Given the description of an element on the screen output the (x, y) to click on. 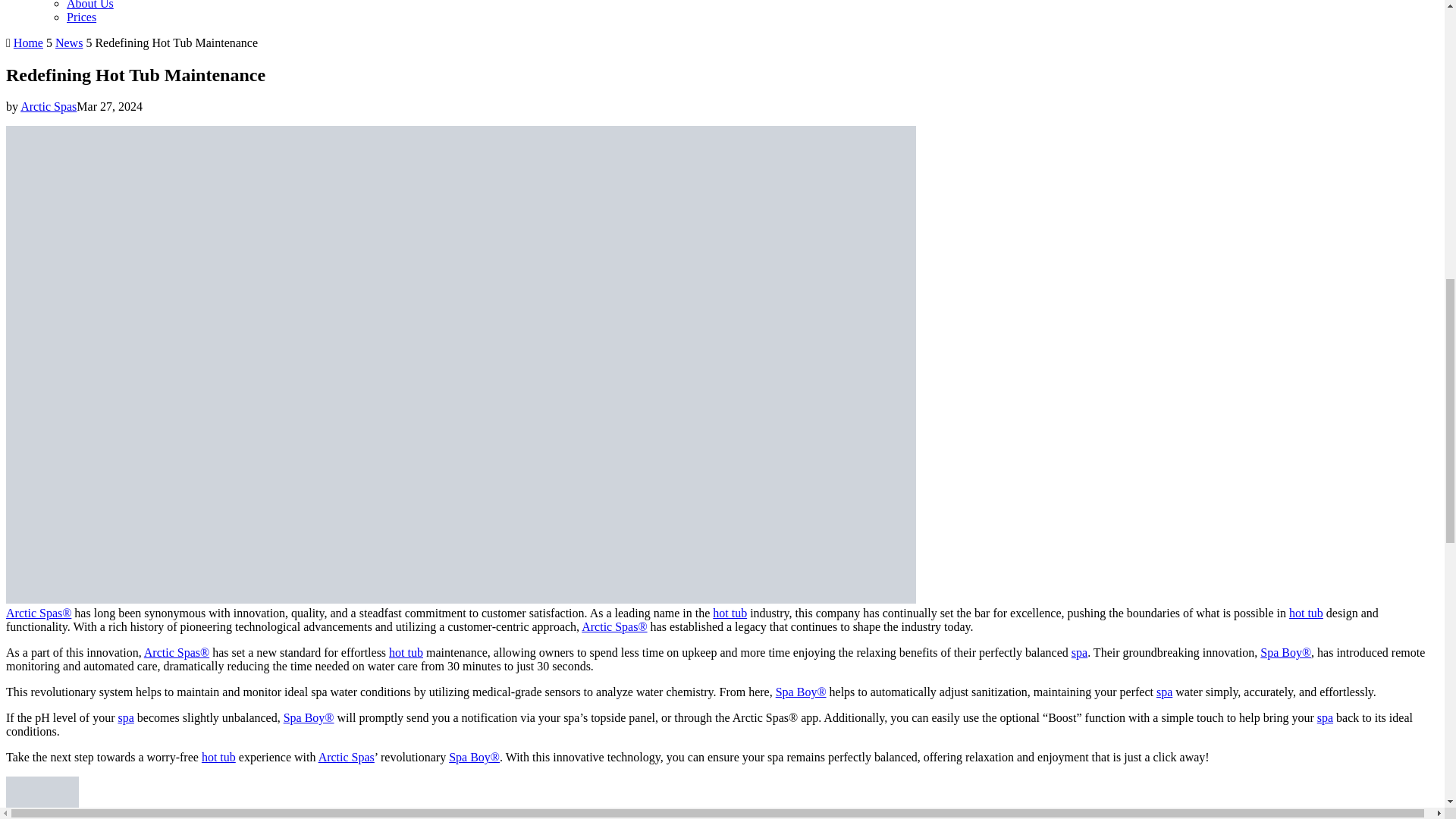
Posts by Arctic Spas (48, 106)
